Given the description of an element on the screen output the (x, y) to click on. 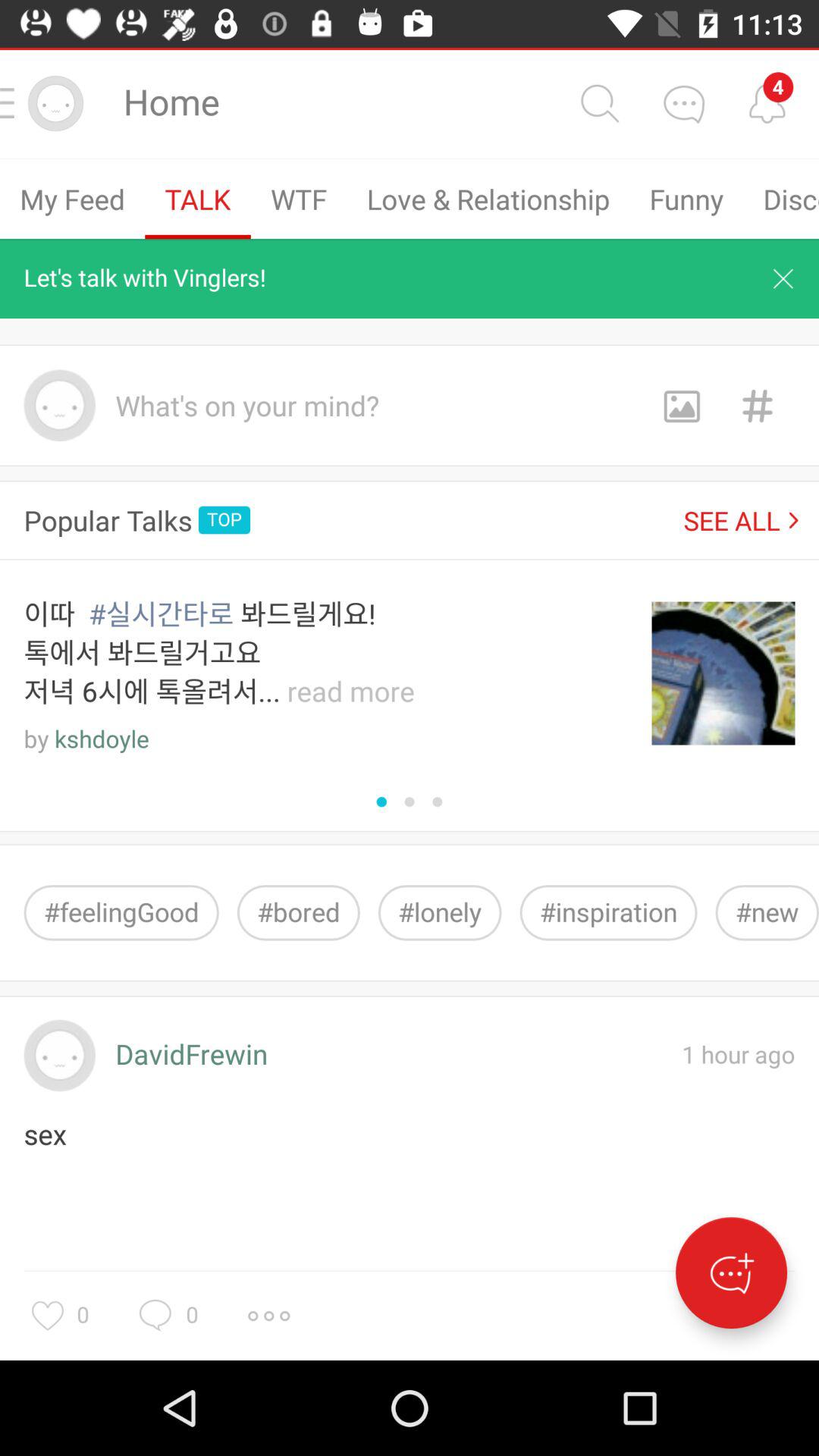
select #bored (298, 912)
